Given the description of an element on the screen output the (x, y) to click on. 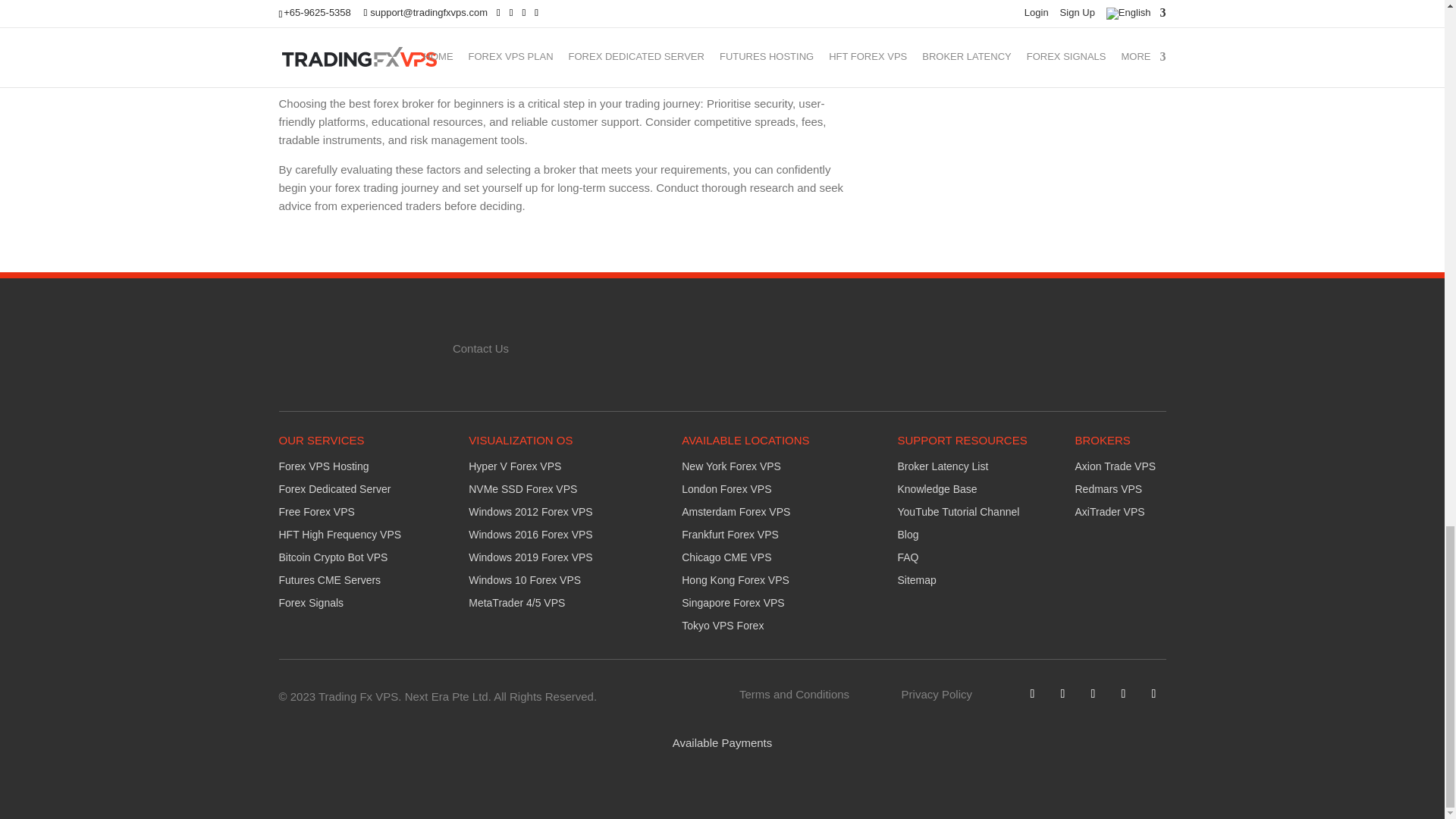
trading logo footer (356, 344)
Follow on Twitter (1061, 693)
Follow on Youtube (1122, 693)
Follow on Facebook (1031, 693)
Follow on skype (1092, 693)
Follow on Instagram (1153, 693)
